Given the description of an element on the screen output the (x, y) to click on. 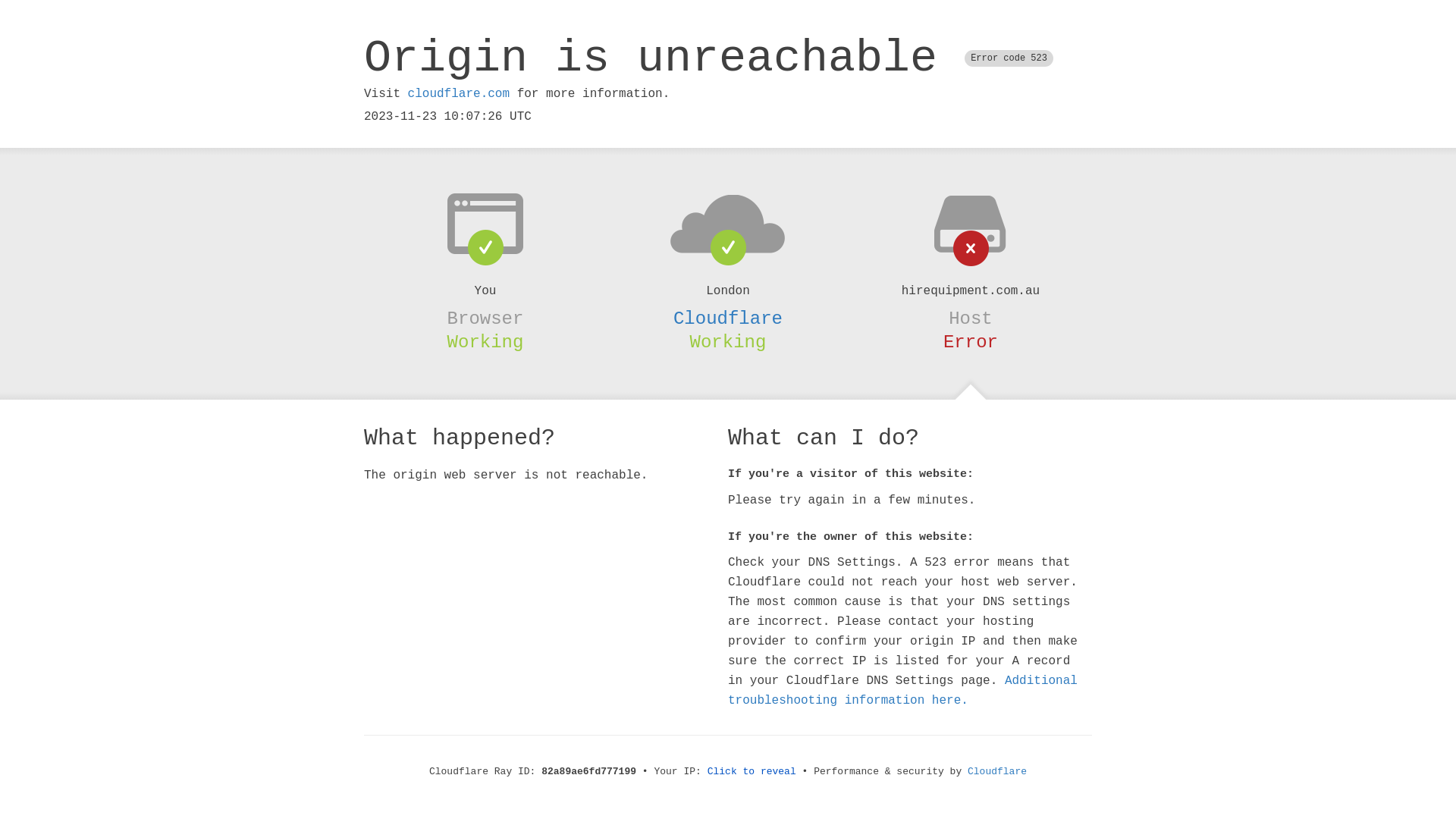
Cloudflare Element type: text (996, 771)
cloudflare.com Element type: text (458, 93)
Click to reveal Element type: text (751, 771)
Cloudflare Element type: text (727, 318)
Additional troubleshooting information here. Element type: text (902, 690)
